Given the description of an element on the screen output the (x, y) to click on. 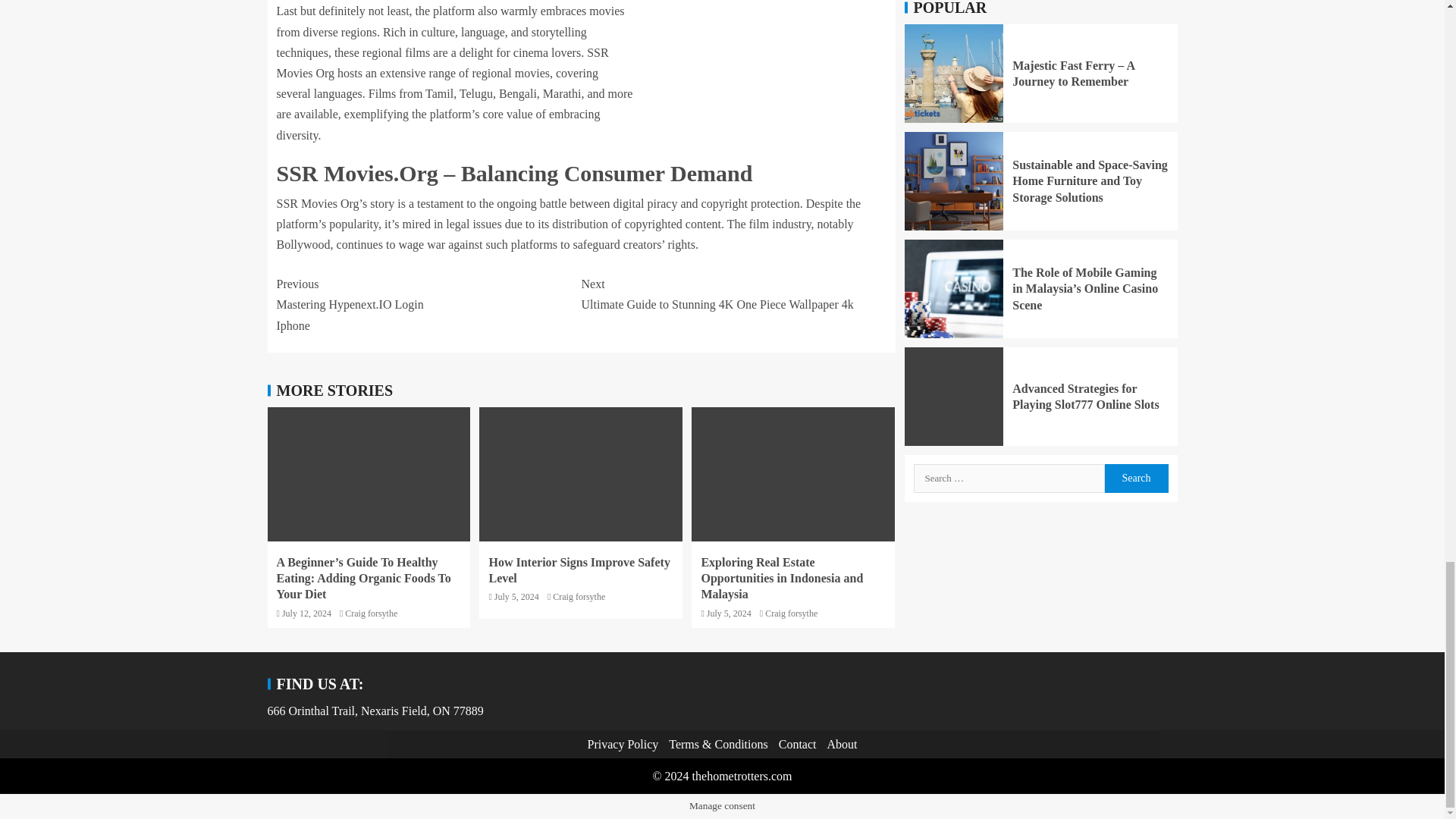
Craig forsythe (790, 613)
Craig forsythe (371, 613)
Craig forsythe (579, 596)
How Interior Signs Improve Safety Level (578, 570)
